Given the description of an element on the screen output the (x, y) to click on. 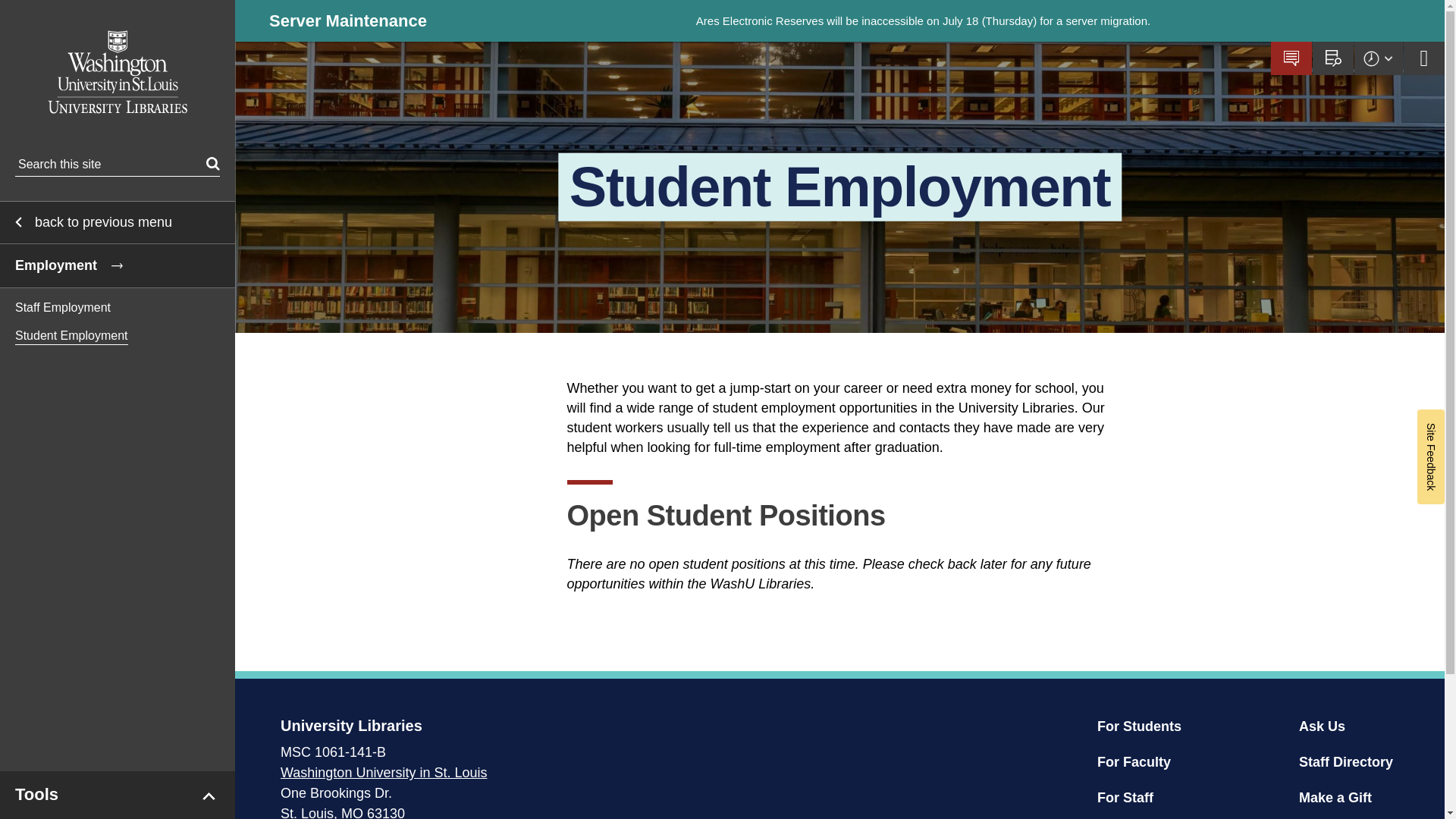
Research Support (117, 356)
Employment (117, 266)
Exhibitions (117, 444)
Special Collections (117, 401)
About (117, 223)
News (117, 488)
Locations (117, 268)
Events (117, 530)
WashU Libraries (116, 71)
Staff Employment (117, 308)
back to previous menu (117, 222)
Submit (212, 163)
Student Employment (117, 336)
Services (117, 312)
